Given the description of an element on the screen output the (x, y) to click on. 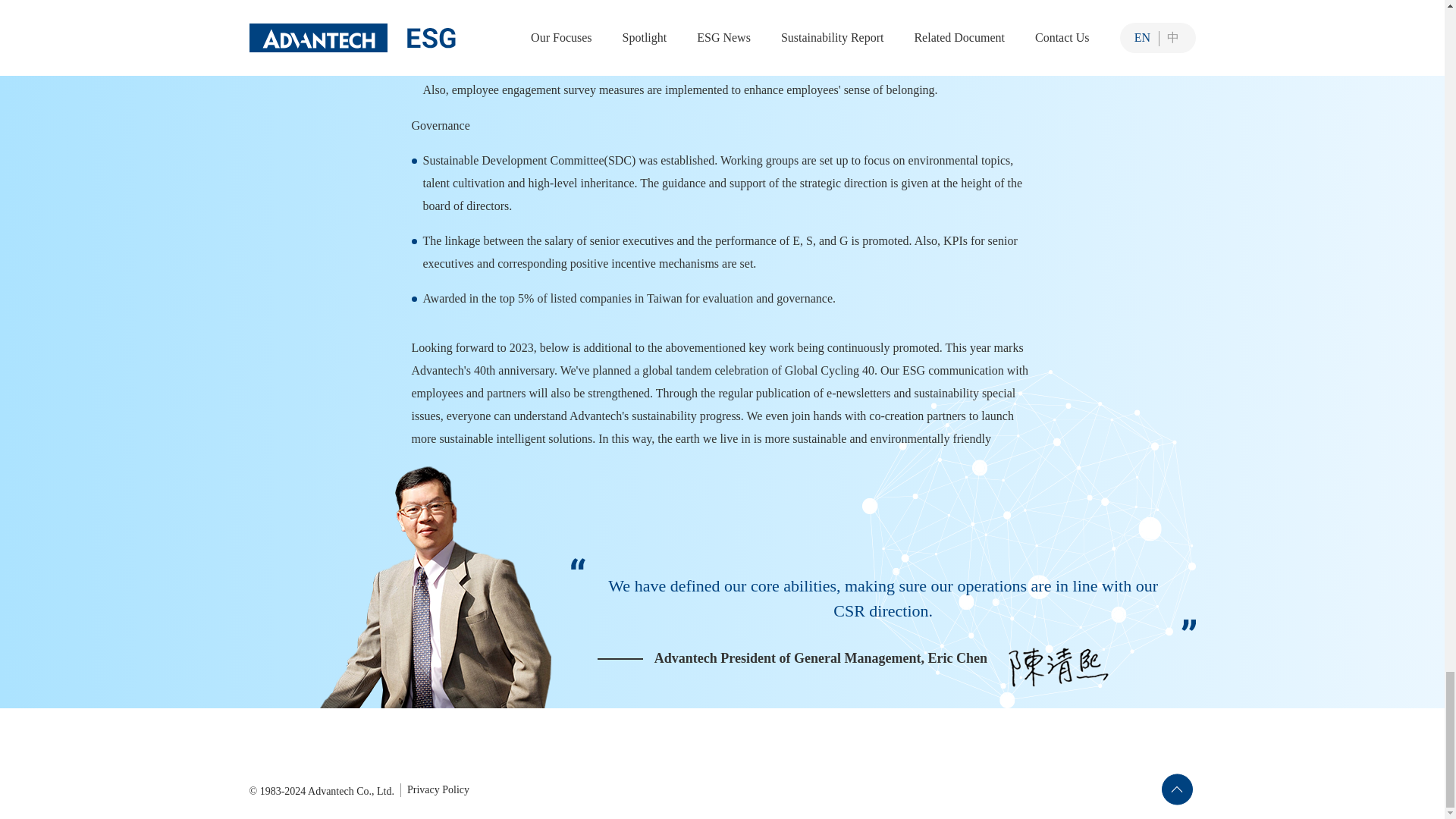
Privacy Policy (437, 789)
